Given the description of an element on the screen output the (x, y) to click on. 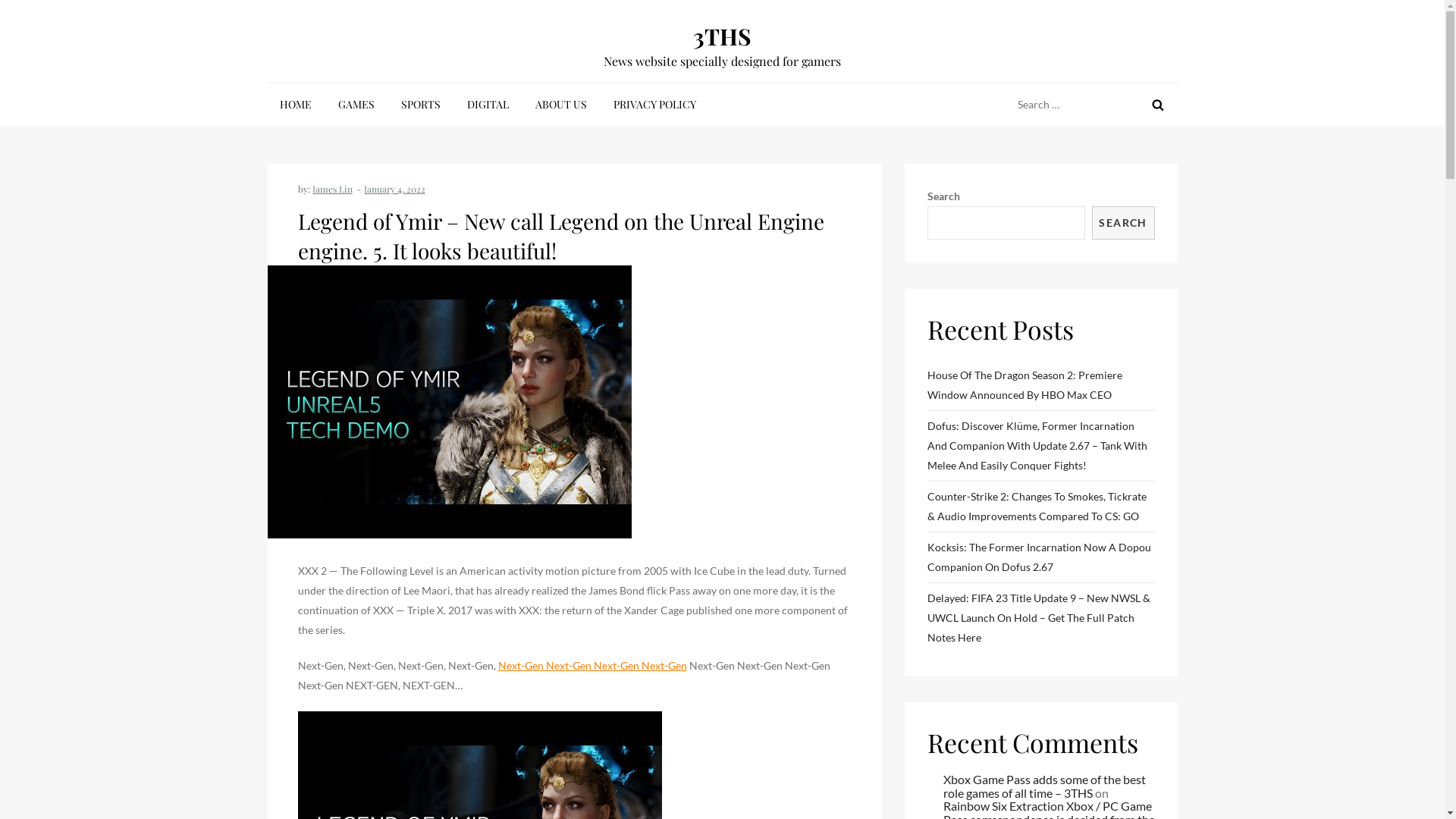
DIGITAL Element type: text (487, 104)
ABOUT US Element type: text (561, 104)
SPORTS Element type: text (419, 104)
GAMES Element type: text (356, 104)
Next-Gen Next-Gen Next-Gen Next-Gen Element type: text (591, 664)
HOME Element type: text (294, 104)
Search Element type: text (1156, 104)
PRIVACY POLICY Element type: text (653, 104)
January 4, 2022 Element type: text (394, 188)
SEARCH Element type: text (1123, 222)
James Lin Element type: text (332, 188)
3THS Element type: text (722, 36)
